Given the description of an element on the screen output the (x, y) to click on. 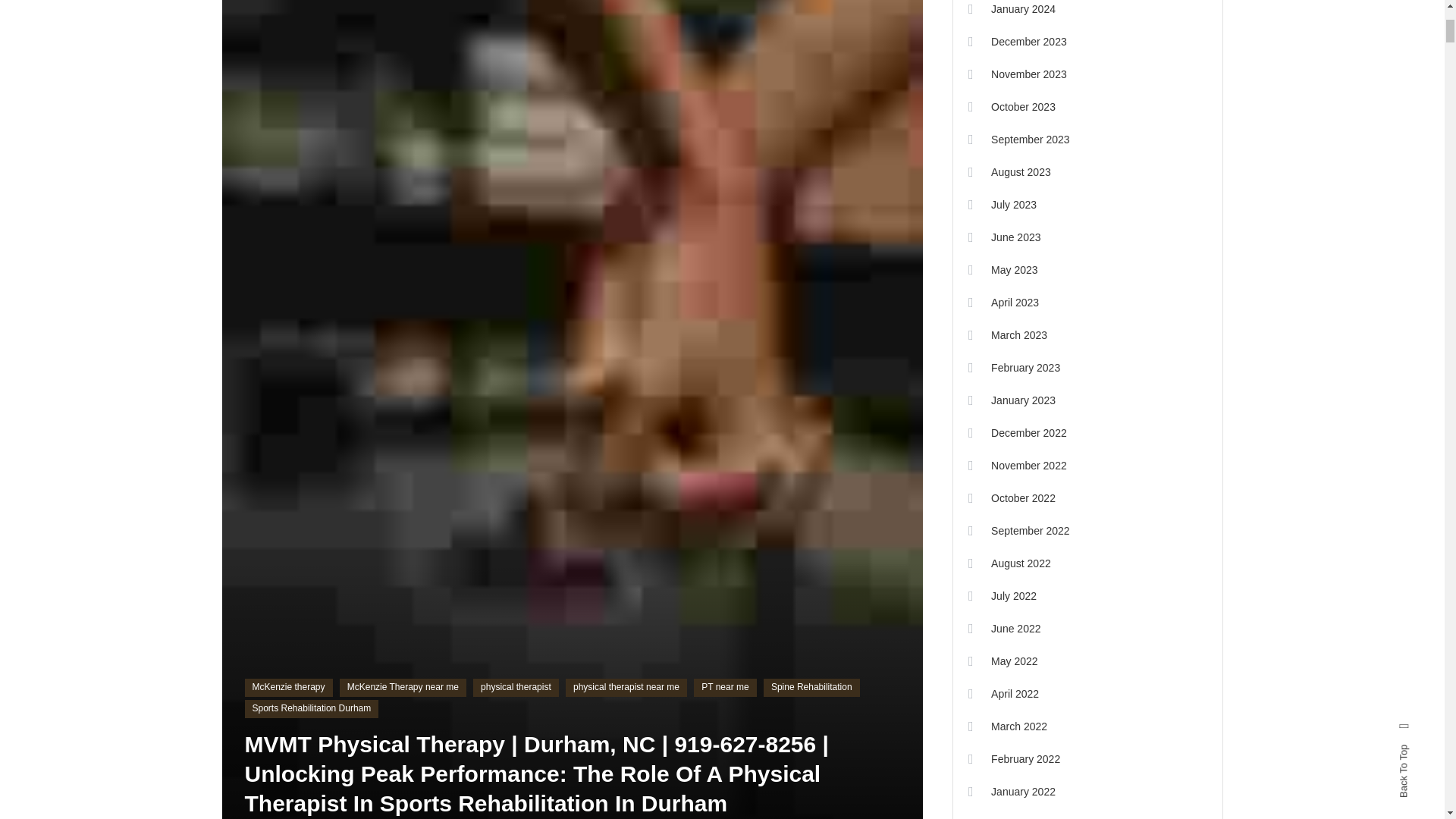
McKenzie Therapy near me (402, 687)
McKenzie therapy (287, 687)
